Given the description of an element on the screen output the (x, y) to click on. 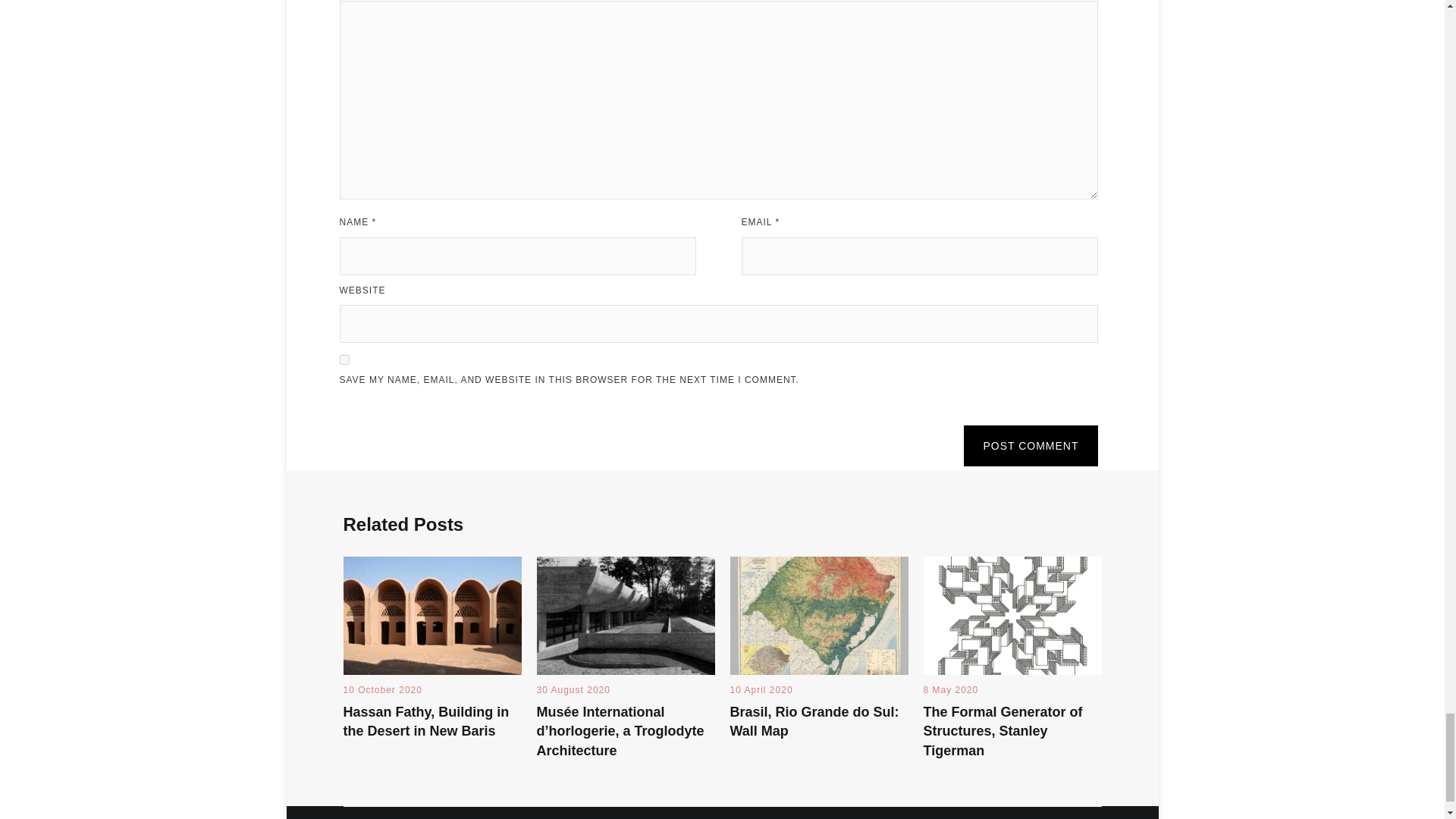
yes (344, 359)
